Given the description of an element on the screen output the (x, y) to click on. 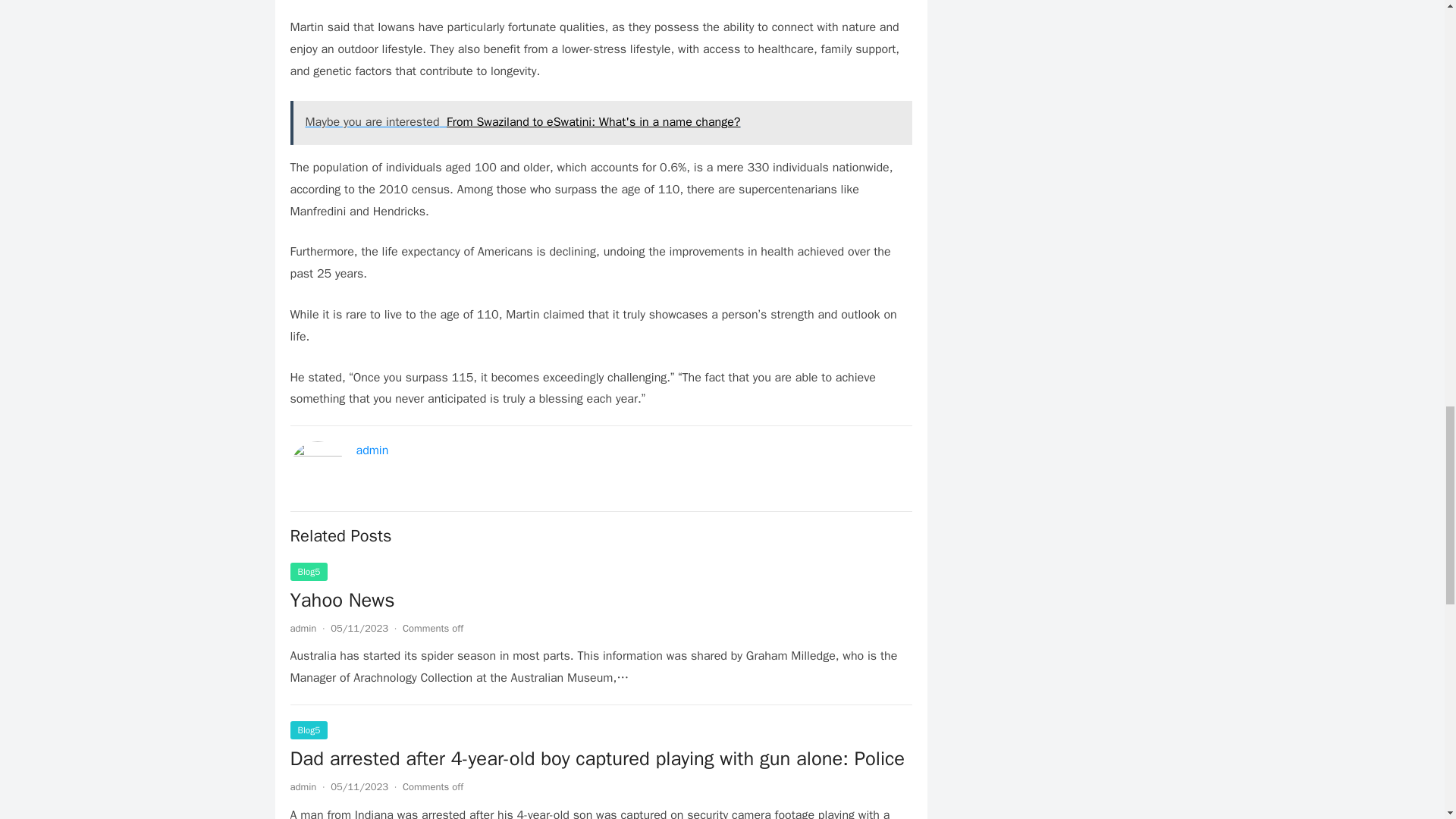
admin (372, 450)
admin (302, 627)
Blog5 (308, 730)
Posts by admin (302, 786)
Posts by admin (302, 627)
Blog5 (308, 571)
Yahoo News (341, 600)
admin (302, 786)
